Given the description of an element on the screen output the (x, y) to click on. 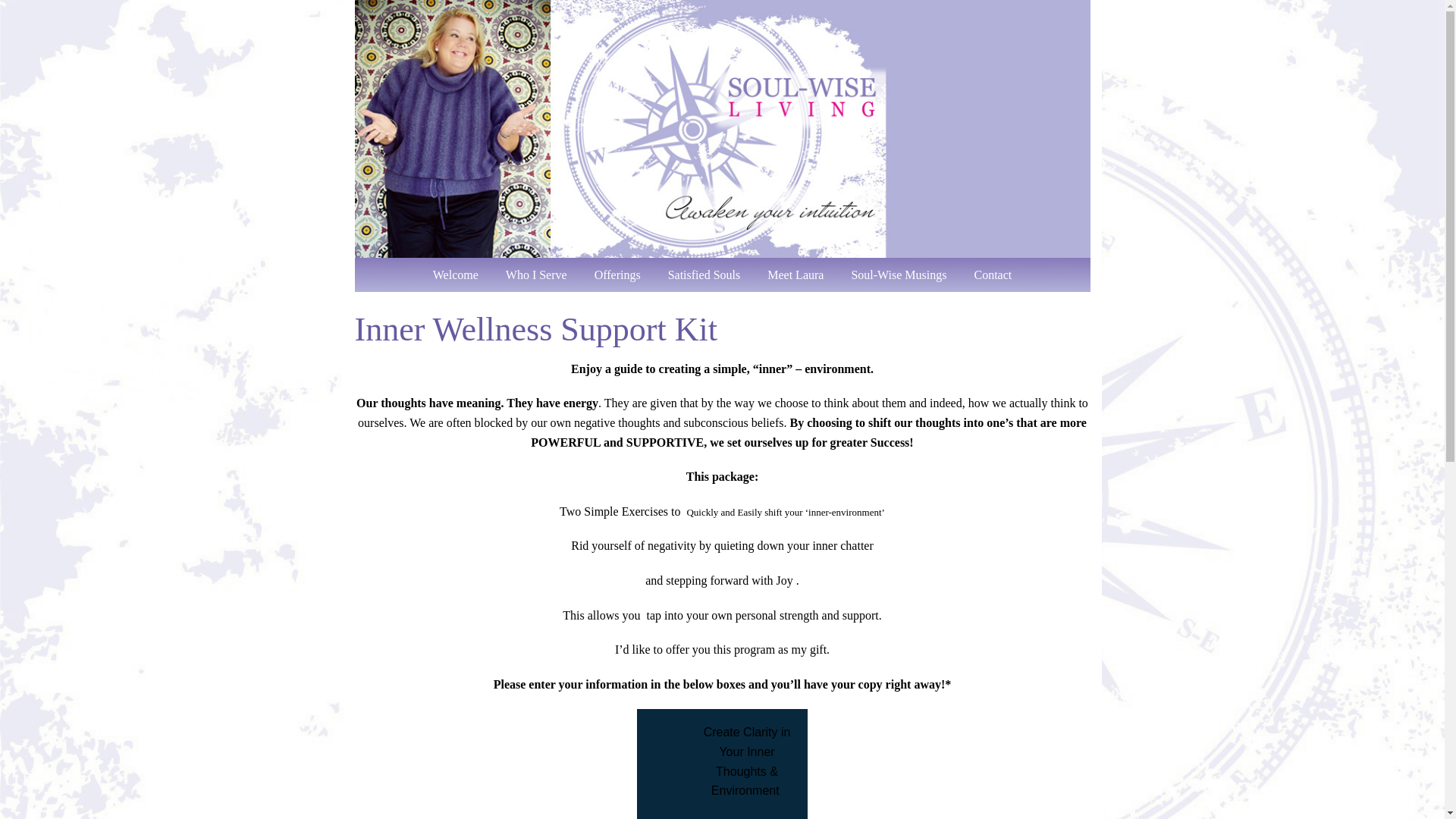
Soul-Wise Musings (898, 274)
Offerings (617, 274)
Satisfied Souls (704, 274)
Meet Laura (795, 274)
Contact (992, 274)
Welcome (455, 274)
Who I Serve (536, 274)
